Given the description of an element on the screen output the (x, y) to click on. 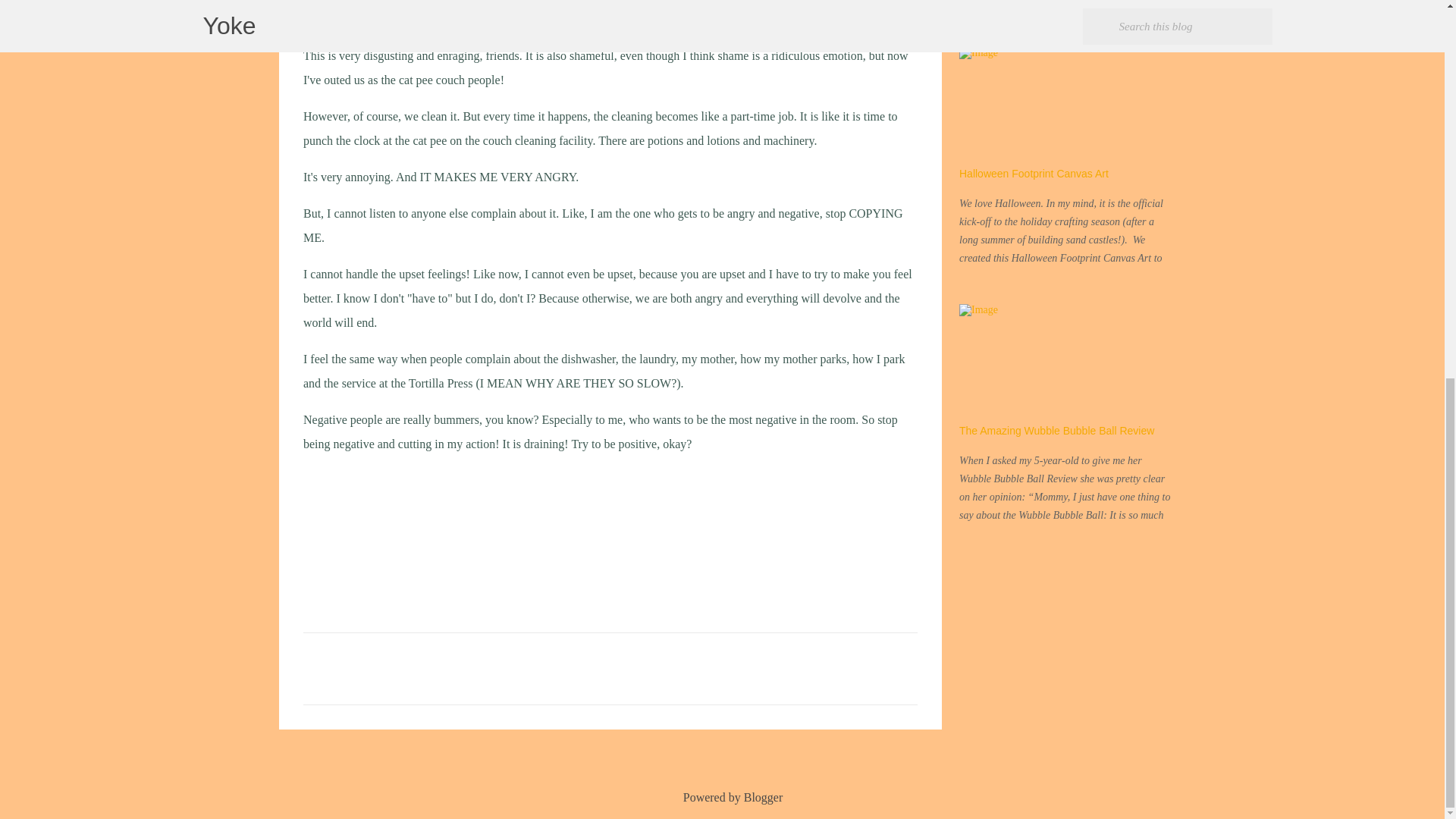
The Amazing Wubble Bubble Ball Review (1056, 430)
Halloween Footprint Canvas Art (1033, 173)
Powered by Blogger (722, 797)
